Given the description of an element on the screen output the (x, y) to click on. 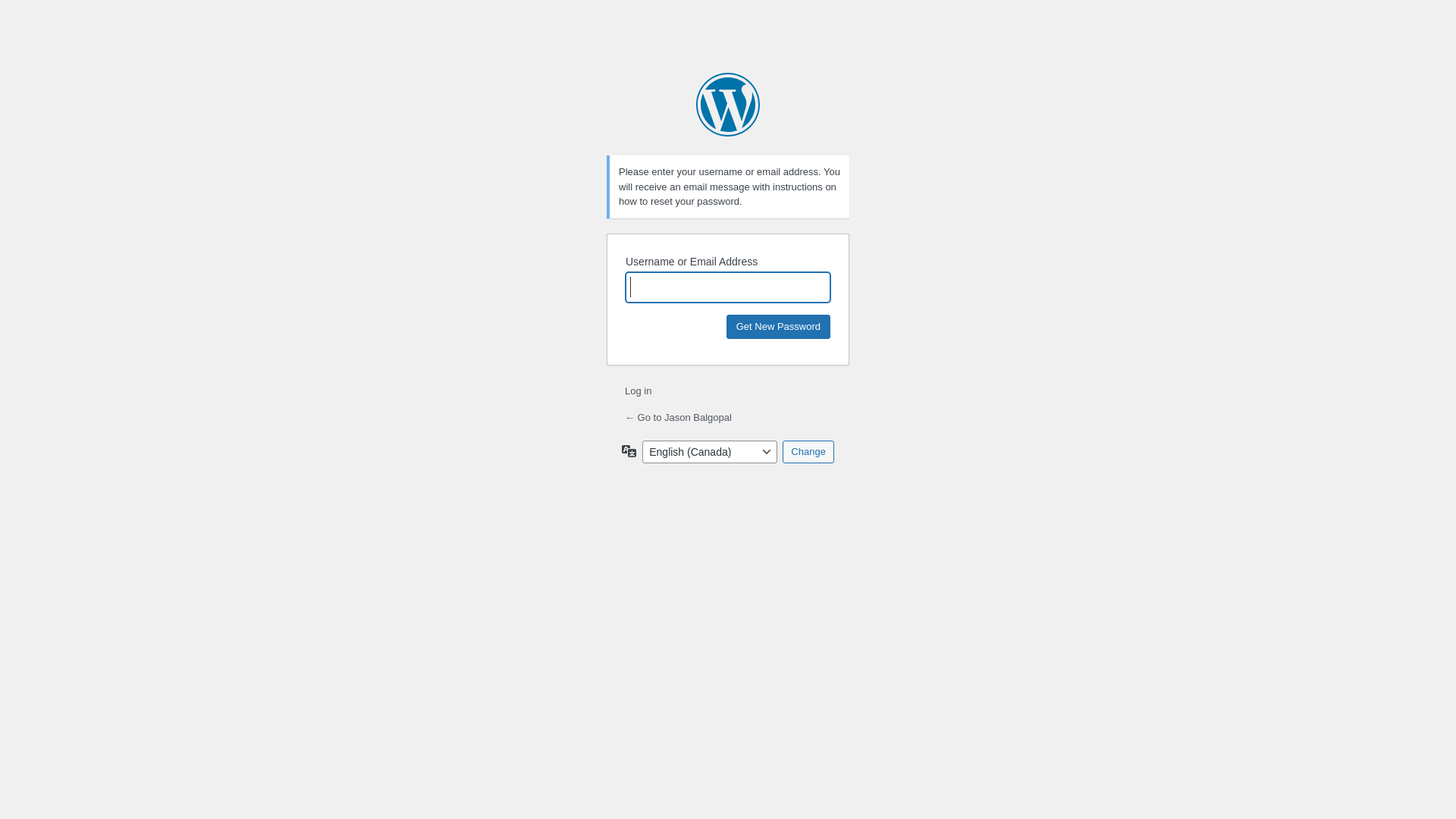
Powered by WordPress Element type: text (727, 104)
Get New Password Element type: text (778, 325)
Log in Element type: text (637, 390)
Change Element type: text (808, 450)
